Given the description of an element on the screen output the (x, y) to click on. 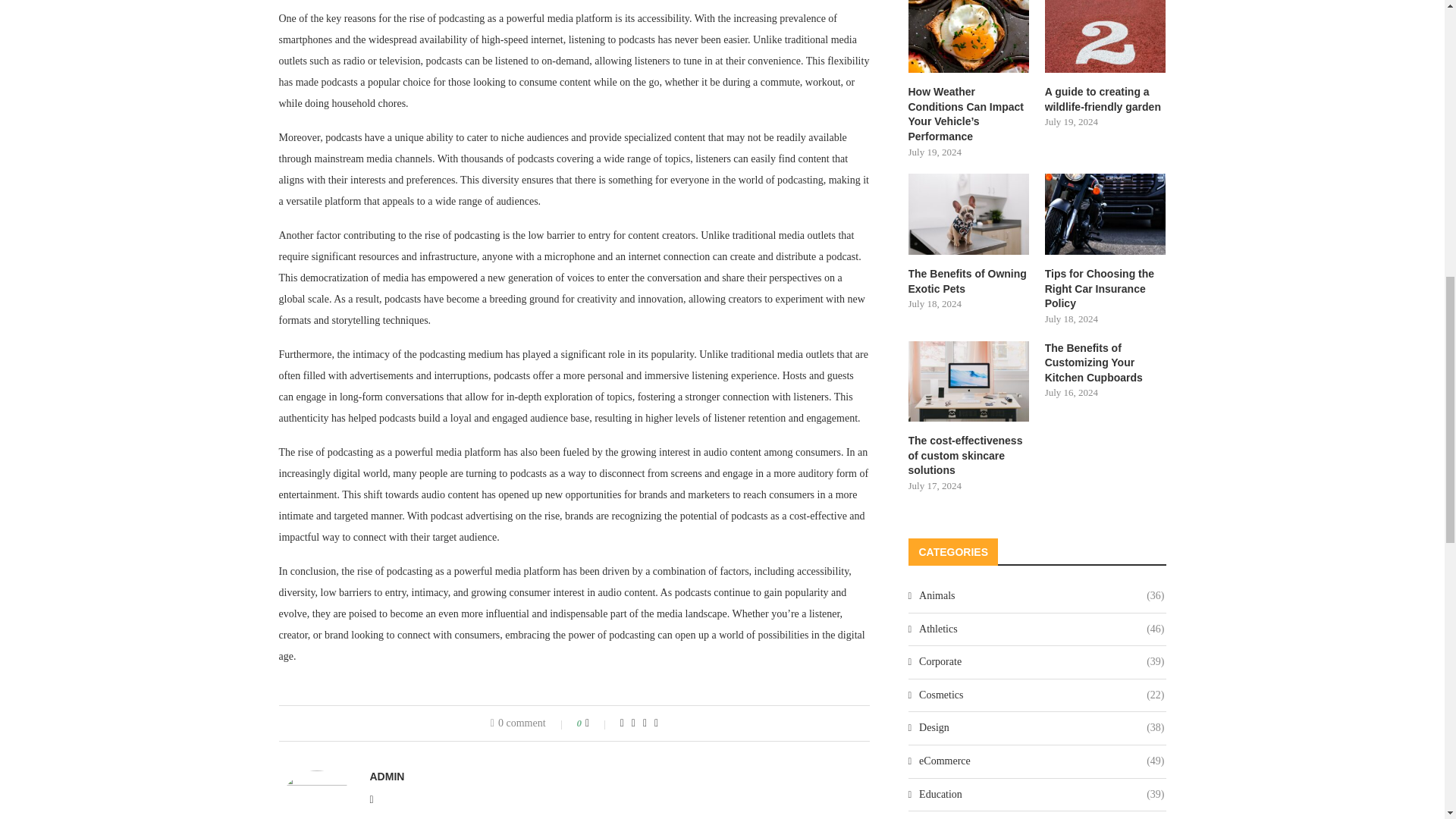
Author admin (386, 776)
Like (597, 723)
